Given the description of an element on the screen output the (x, y) to click on. 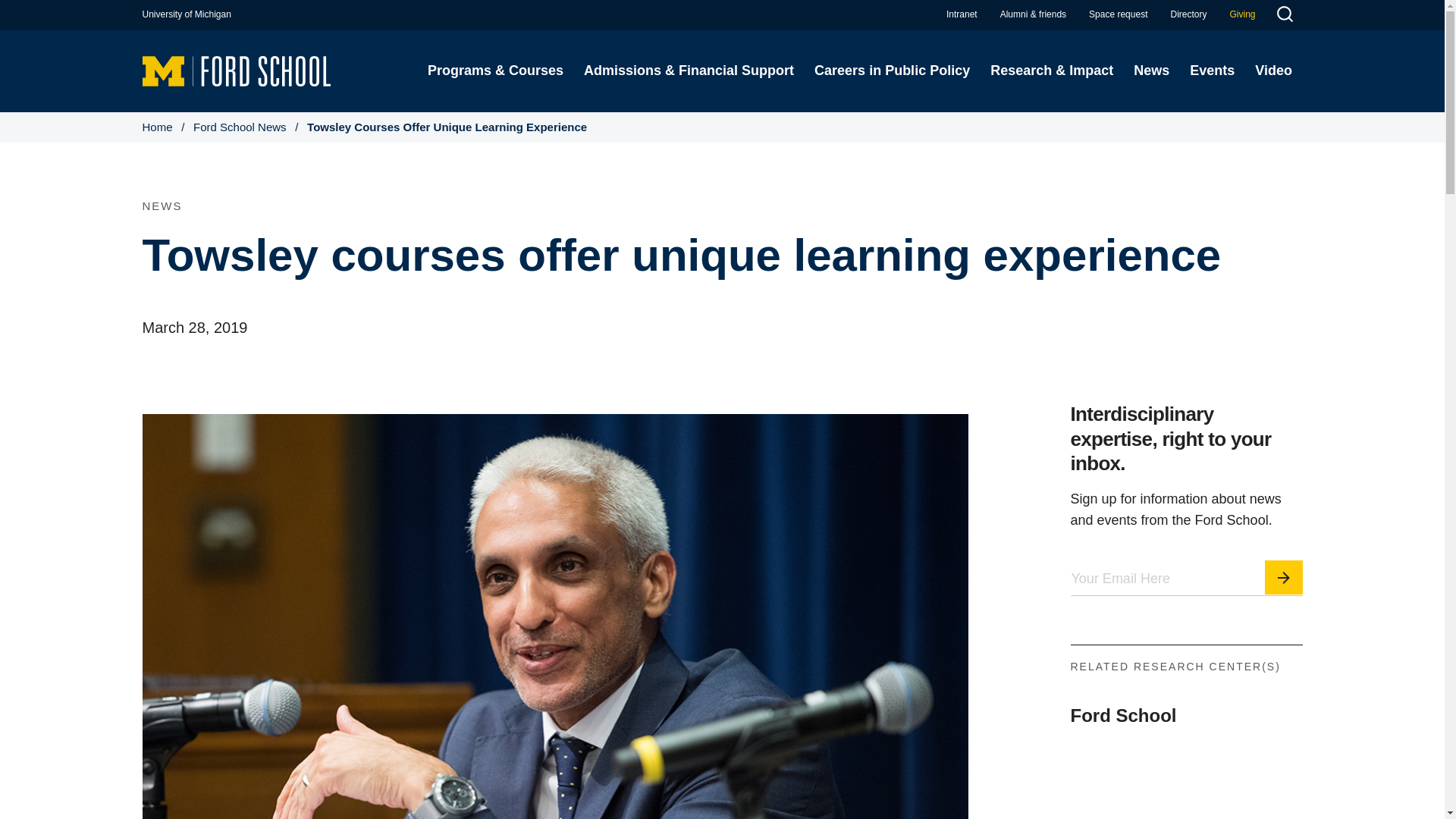
Ford School academic program and course information (494, 71)
A connected community to each other, and to the world (1032, 14)
Search Toggle (1283, 15)
Ford School faculty, staff, and student contacts (1188, 14)
Give to the Ford School (1241, 14)
Giving (1241, 14)
University of Michigan (186, 14)
Directory (1188, 14)
Space request (1118, 14)
Home (236, 69)
Intranet (961, 14)
Learn more about our facilities and how to reserve them (1118, 14)
Subscribe (1284, 577)
